Given the description of an element on the screen output the (x, y) to click on. 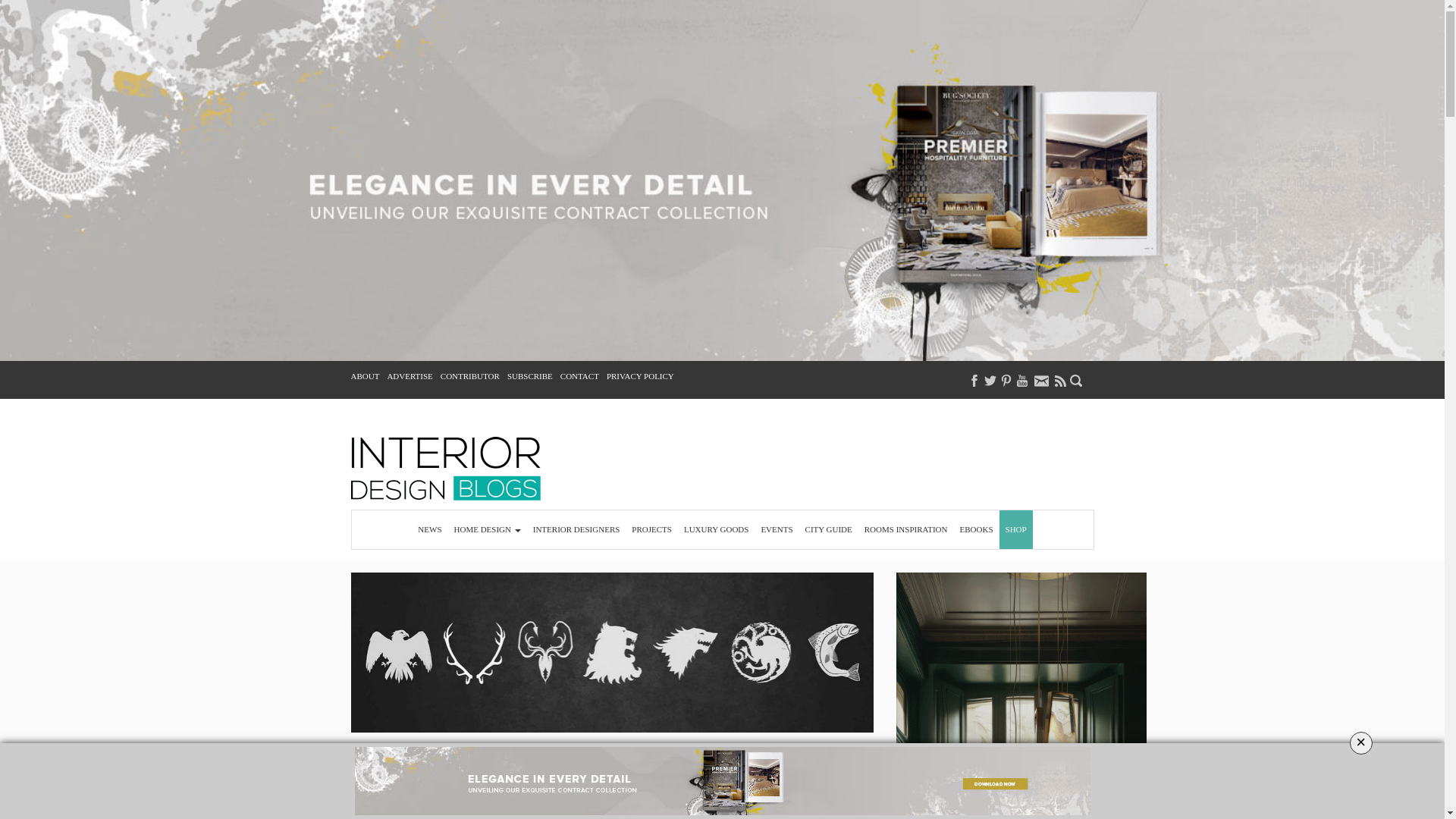
ROOMS INSPIRATION (906, 529)
City Guide (829, 529)
Events (775, 529)
Interior Design Blogs (445, 468)
LUXURY GOODS (716, 529)
PROJECTS (652, 529)
Home Design (487, 529)
Luxury Goods (716, 529)
Editor (468, 804)
ABOUT (364, 375)
